Given the description of an element on the screen output the (x, y) to click on. 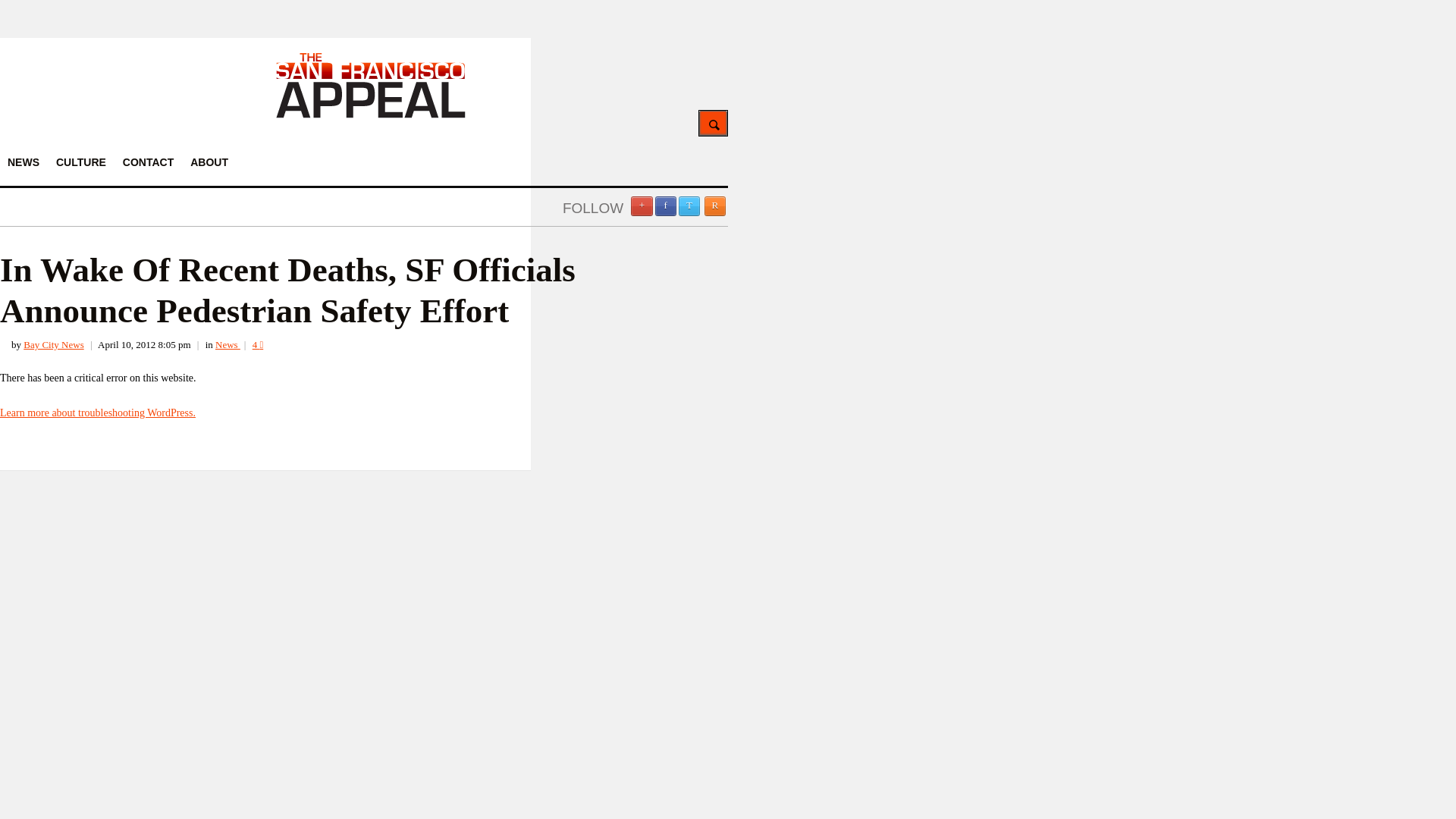
Posts by Bay City News (52, 344)
FACEBOOK (666, 206)
Bay City News (52, 344)
RSS (714, 206)
Learn more about troubleshooting WordPress. (97, 412)
SF Appeal: San Francisco's Online Newspaper (370, 115)
Search (712, 122)
TWITTER (689, 206)
Search (712, 122)
ABOUT (209, 162)
